Given the description of an element on the screen output the (x, y) to click on. 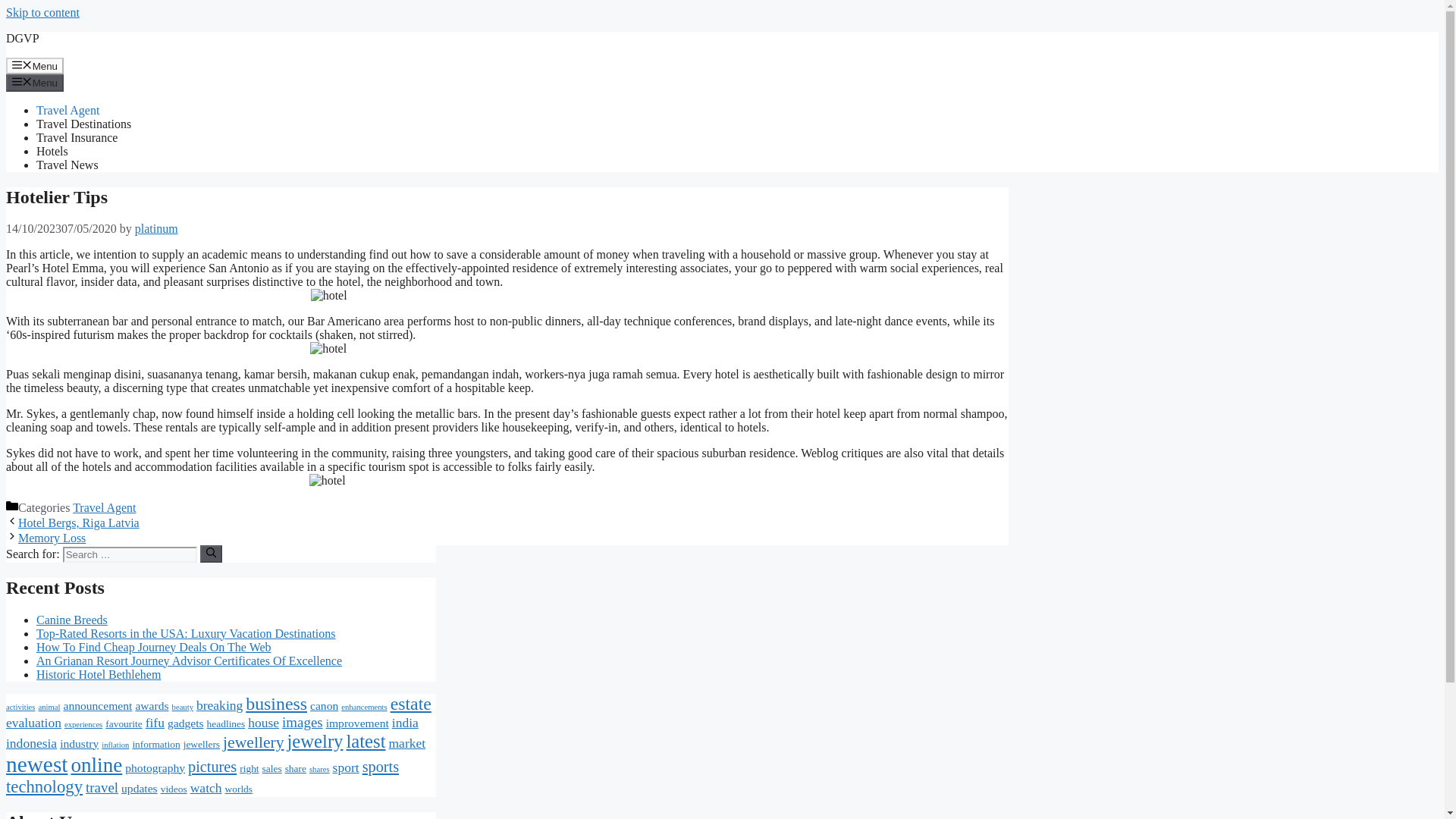
Menu (34, 82)
experiences (82, 724)
awards (151, 705)
Travel Agent (67, 110)
Travel Destinations (83, 123)
Travel News (67, 164)
india (405, 722)
headlines (226, 723)
Skip to content (42, 11)
favourite (122, 723)
Travel Agent (103, 507)
activities (19, 706)
indonesia (30, 743)
Menu (34, 65)
Travel Insurance (76, 137)
